Given the description of an element on the screen output the (x, y) to click on. 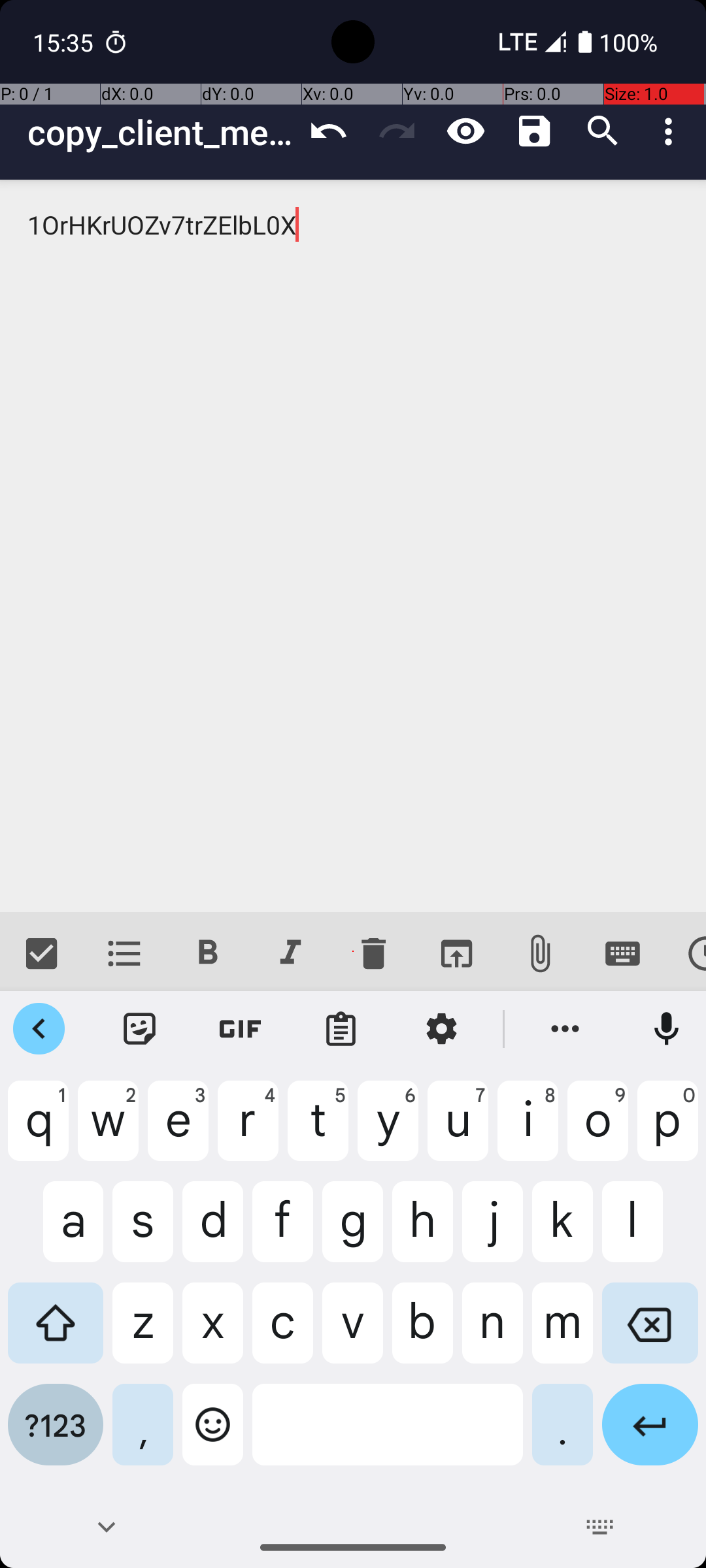
copy_client_meetings_schedule Element type: android.widget.TextView (160, 131)
1OrHKrUOZv7trZElbL0X Element type: android.widget.EditText (353, 545)
